Given the description of an element on the screen output the (x, y) to click on. 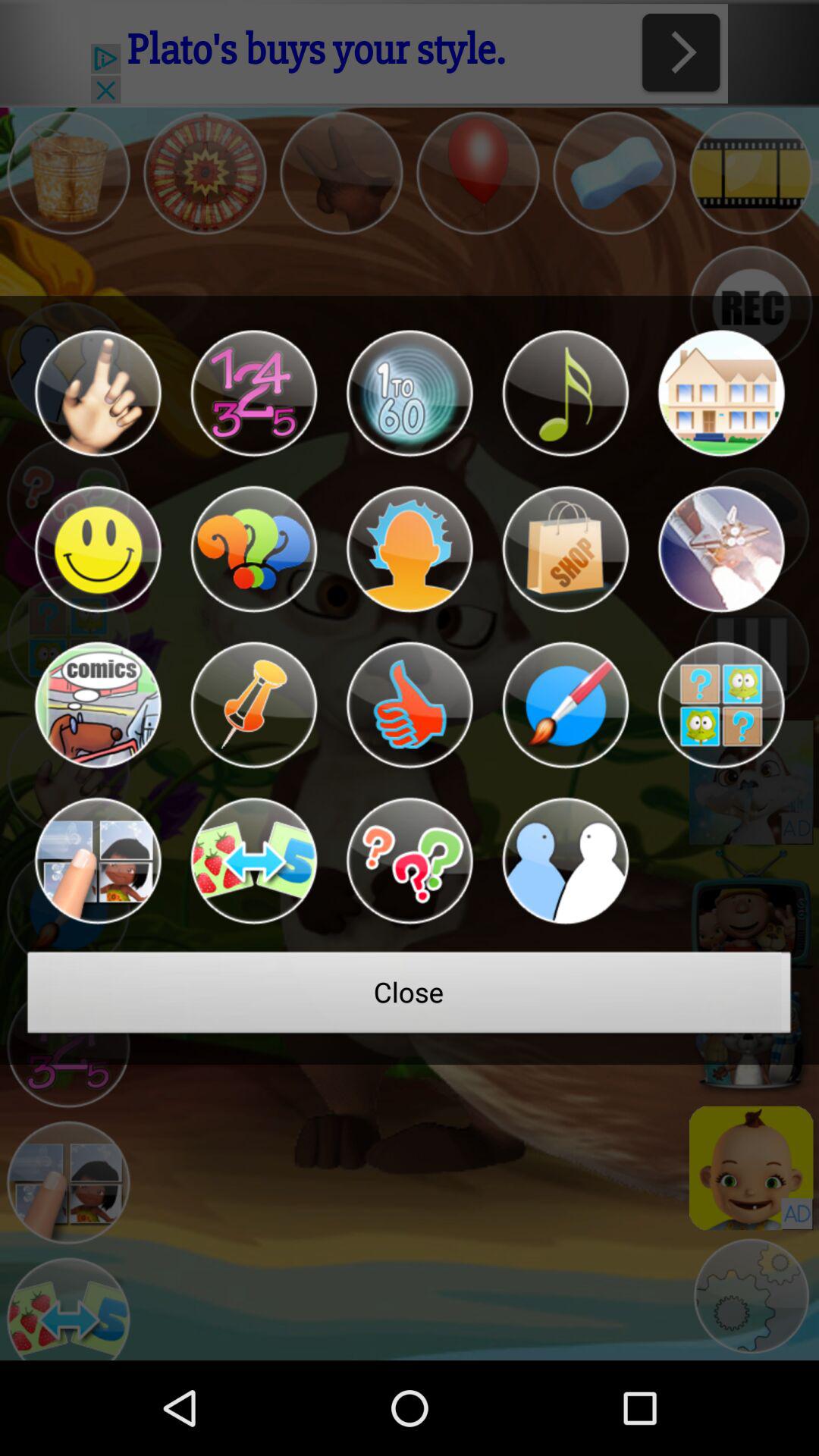
select tac (253, 705)
